Given the description of an element on the screen output the (x, y) to click on. 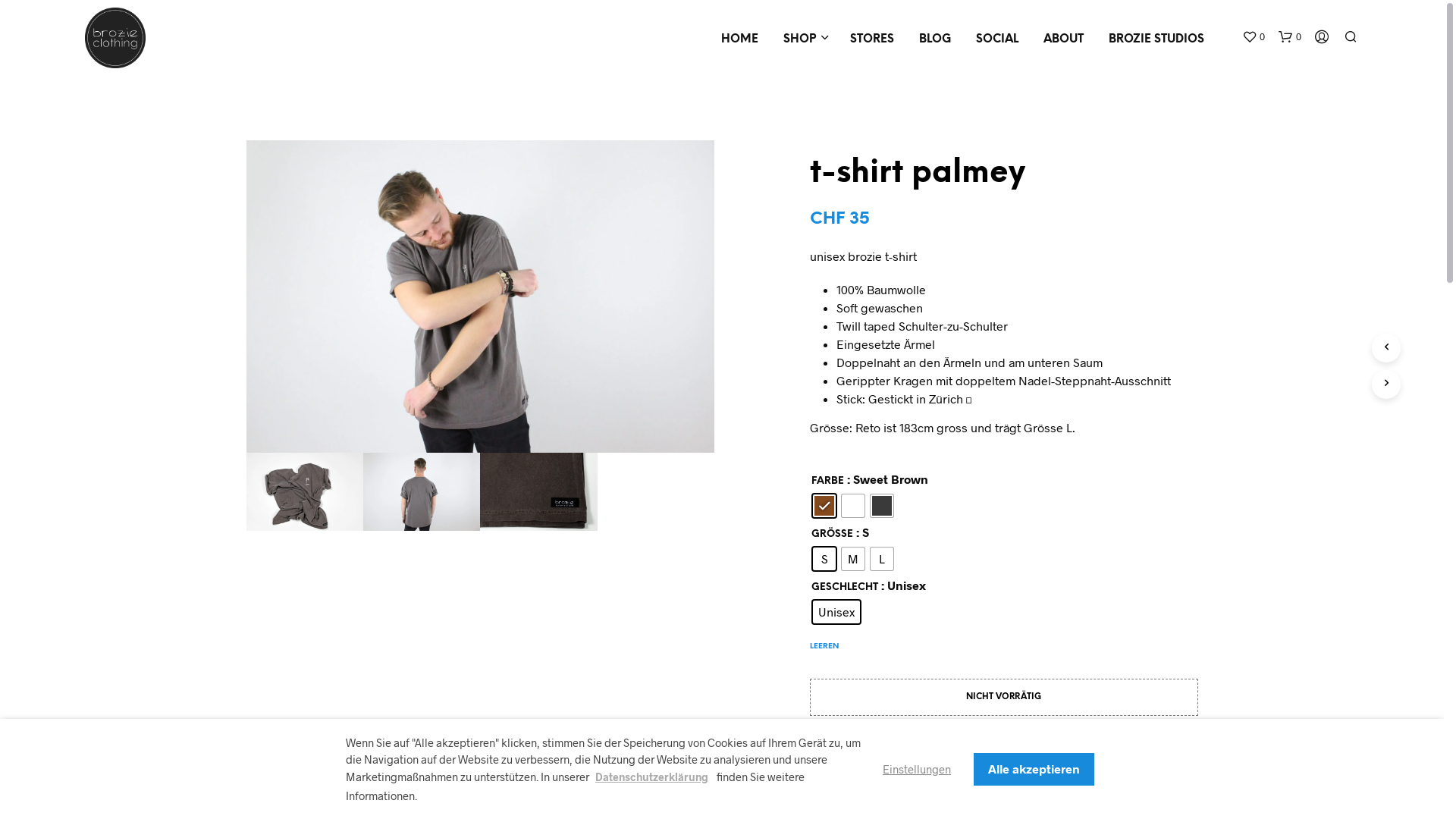
SOCIAL Element type: text (996, 39)
Pretty Black Element type: hover (881, 505)
Alle akzeptieren Element type: text (1033, 768)
Einstellungen Element type: text (916, 768)
STORES Element type: text (871, 39)
palmey brown 4 Element type: hover (538, 491)
BROZIE STUDIOS Element type: text (1156, 39)
LEEREN Element type: text (823, 639)
0 Element type: text (1253, 36)
palmey brown 6 Element type: hover (421, 491)
BLOG Element type: text (934, 39)
Soft White Element type: hover (852, 505)
palmey brown 1 Element type: hover (303, 491)
ABOUT Element type: text (1063, 39)
SHOP Element type: text (799, 39)
Sweet Brown Element type: hover (823, 505)
IN DEN WARENKORB Element type: text (1003, 754)
0 Element type: text (1289, 36)
HOME Element type: text (739, 39)
palmey brown 5 Element type: hover (479, 296)
